Given the description of an element on the screen output the (x, y) to click on. 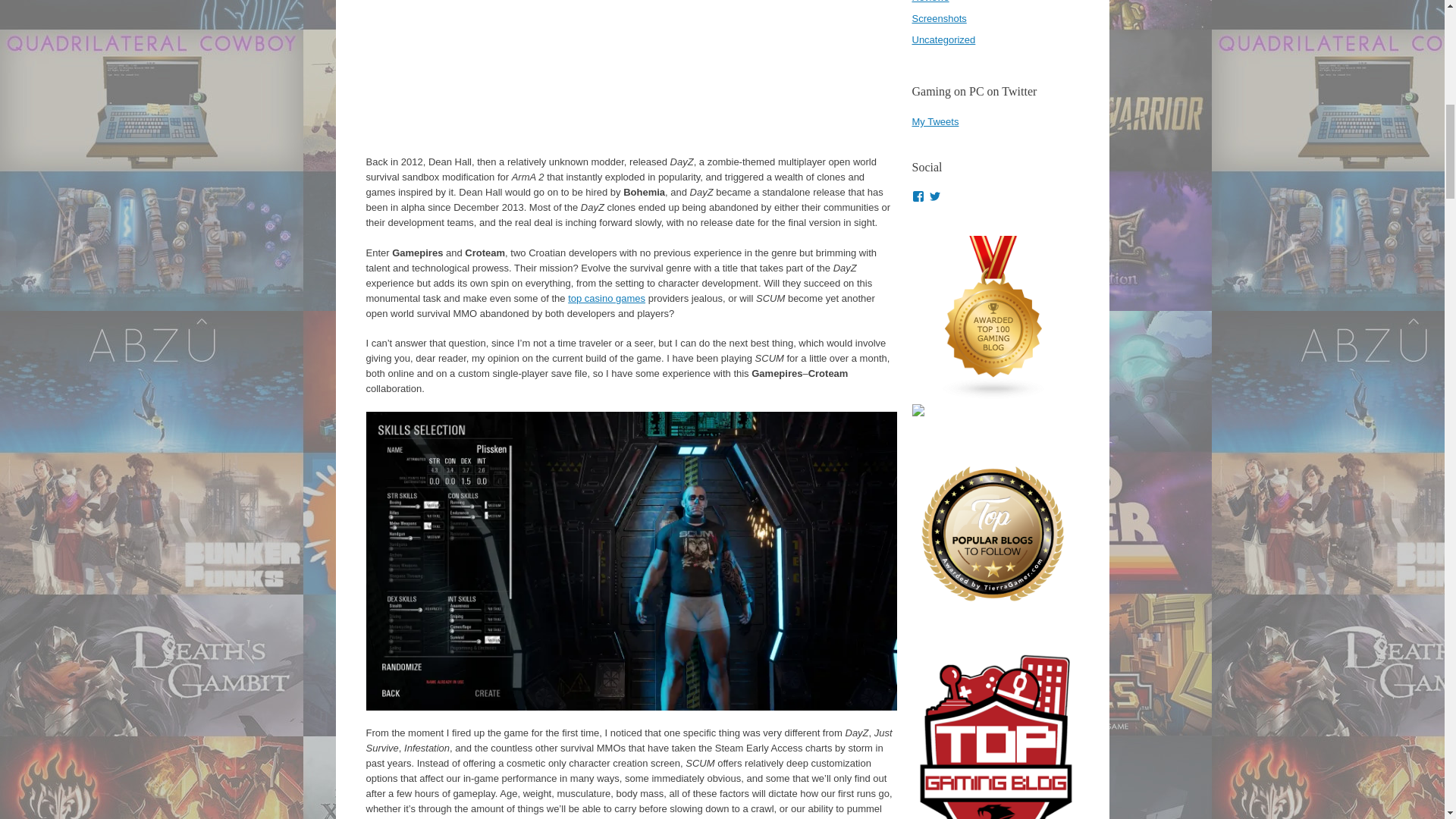
top casino games (606, 297)
Video Game News and blogs (993, 396)
